Given the description of an element on the screen output the (x, y) to click on. 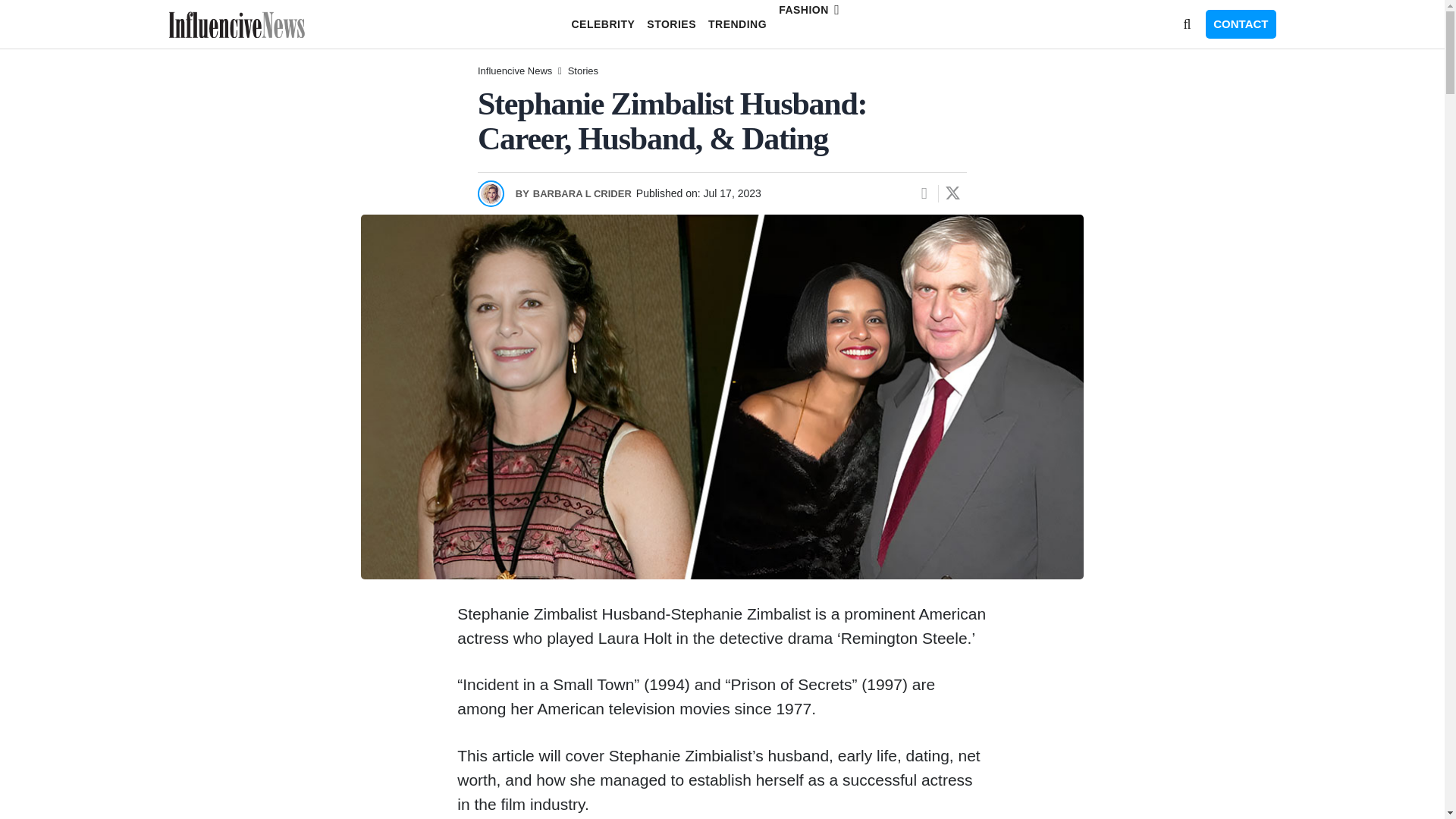
TRENDING (737, 24)
Share this (924, 193)
Influencive News (514, 70)
FASHION (826, 17)
CONTACT (1240, 23)
CELEBRITY (602, 24)
BARBARA L CRIDER (573, 193)
Tweet this (952, 193)
STORIES (670, 24)
Stories (582, 70)
